Given the description of an element on the screen output the (x, y) to click on. 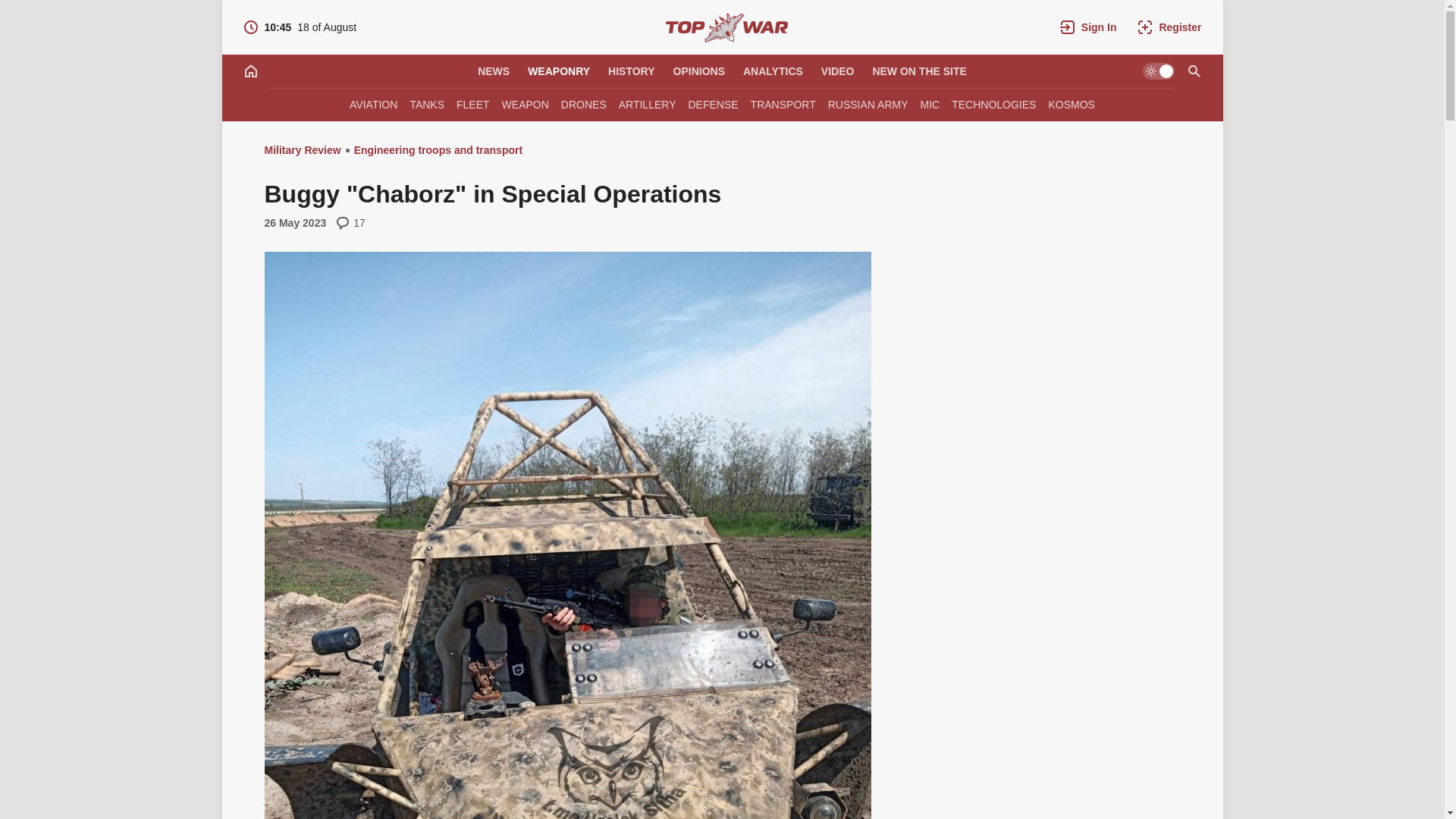
Register (1168, 27)
ANALYTICS (772, 70)
WEAPONRY (558, 70)
Sign In (1088, 27)
VIDEO (837, 70)
Military Review (726, 27)
NEWS (493, 70)
NEW ON THE SITE (919, 70)
